Given the description of an element on the screen output the (x, y) to click on. 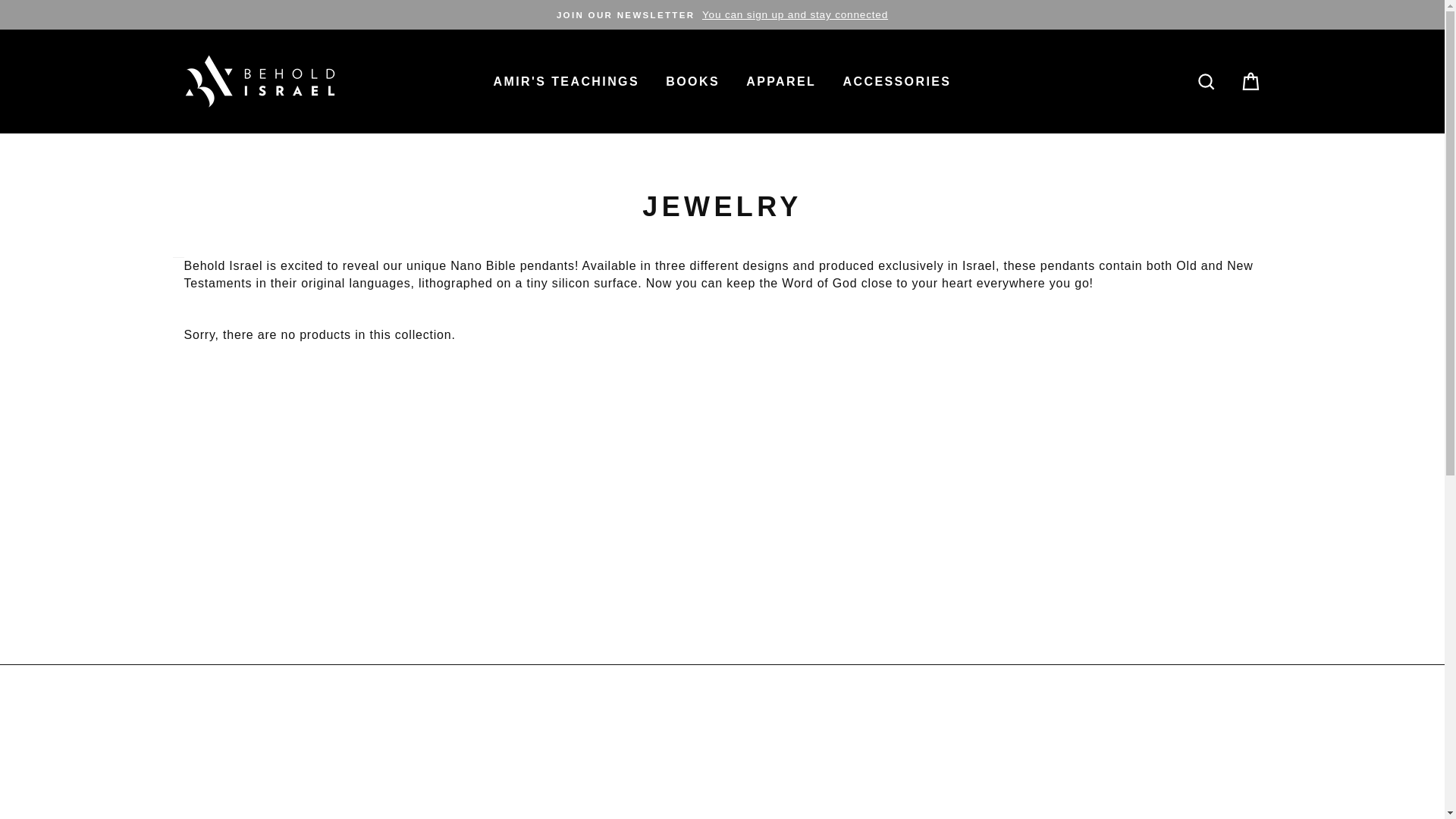
APPAREL (781, 80)
ACCESSORIES (896, 80)
JOIN OUR NEWSLETTER You can sign up and stay connected (722, 14)
BOOKS (691, 80)
AMIR'S TEACHINGS (565, 80)
SEARCH (1205, 81)
CART (1249, 81)
